Given the description of an element on the screen output the (x, y) to click on. 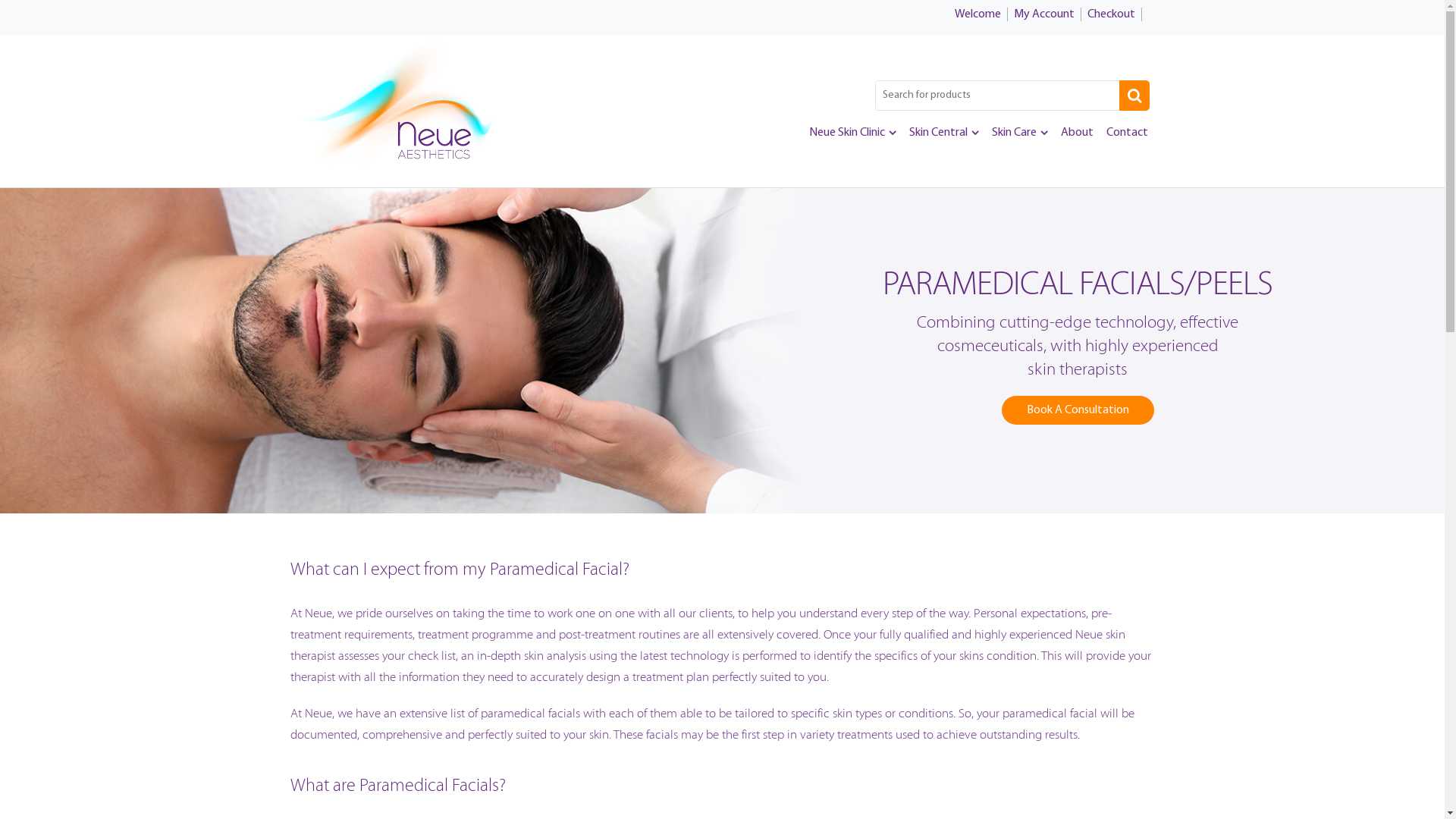
About Element type: text (1076, 132)
Skin Care Element type: text (1019, 132)
Checkout Element type: text (1114, 14)
Skin Central Element type: text (943, 132)
Neue Skin Clinic Element type: text (851, 132)
Contact Element type: text (1126, 132)
My Account Element type: text (1046, 14)
Book A Consultation Element type: text (1077, 409)
